Given the description of an element on the screen output the (x, y) to click on. 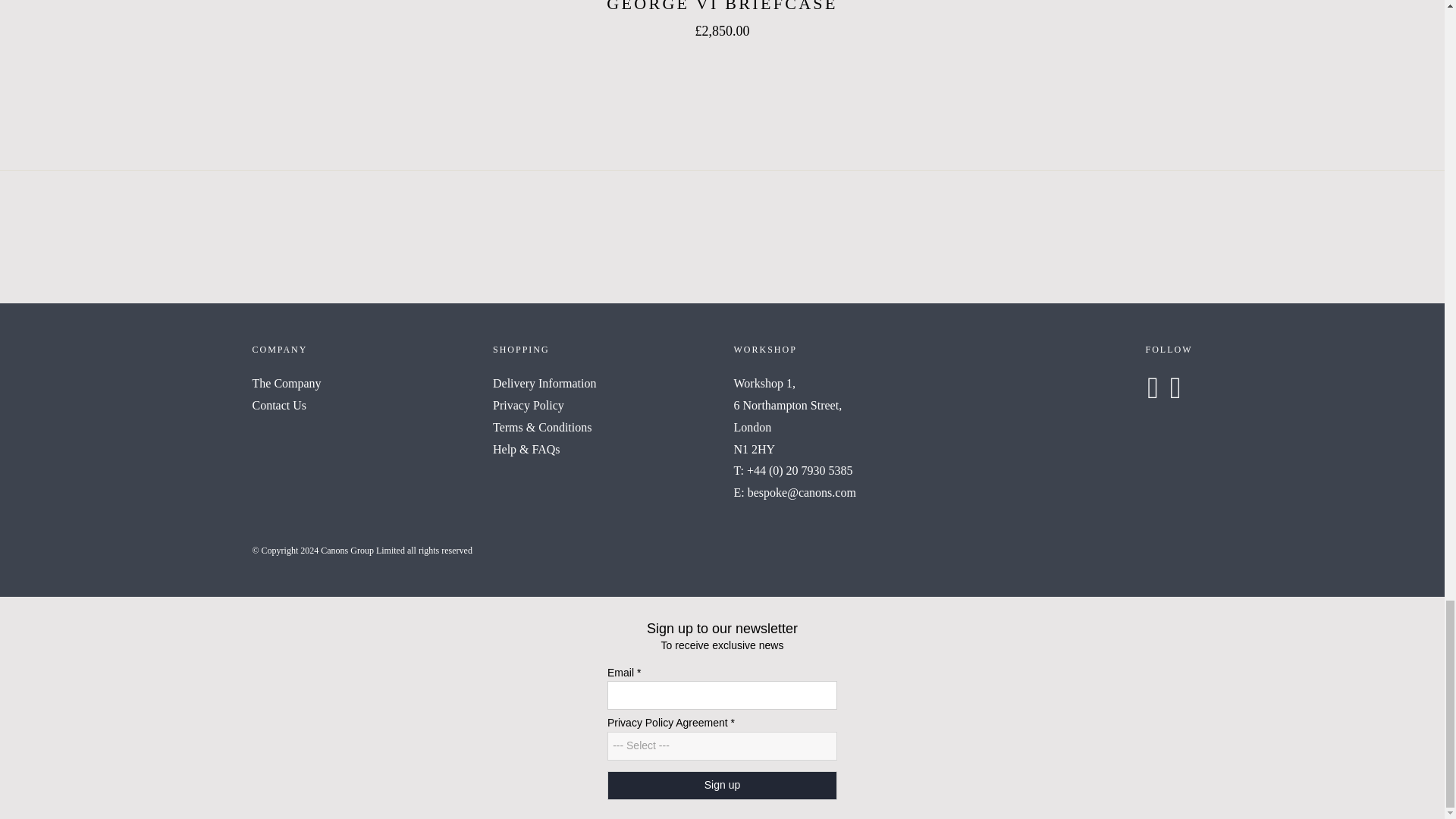
Sign up (722, 785)
